Given the description of an element on the screen output the (x, y) to click on. 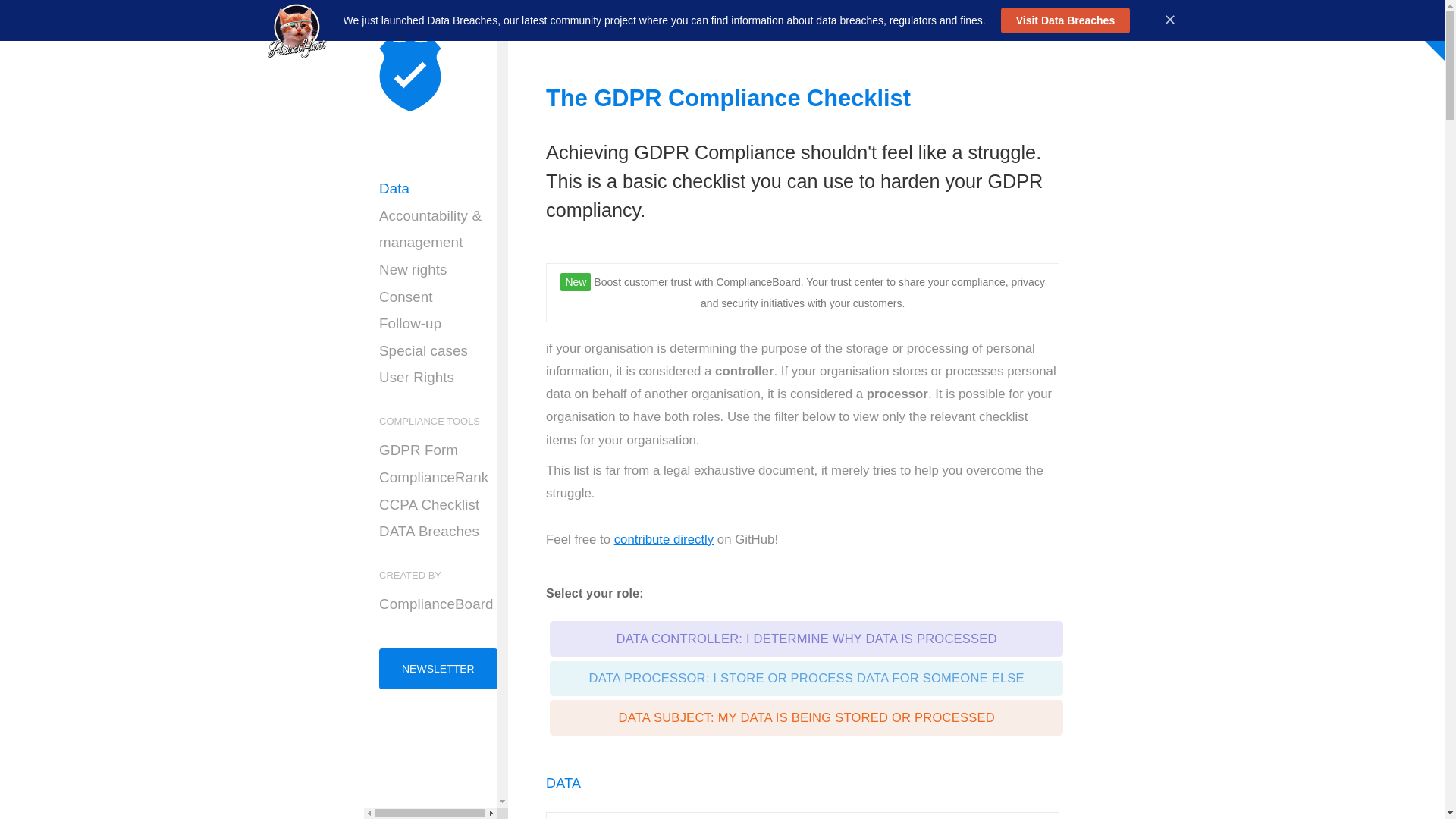
Follow-up (409, 323)
DATA Breaches (428, 531)
Consent (405, 297)
NEWSLETTER (437, 668)
Special cases (422, 350)
GDPR Form (418, 450)
contribute directly (664, 539)
Data (393, 188)
